Given the description of an element on the screen output the (x, y) to click on. 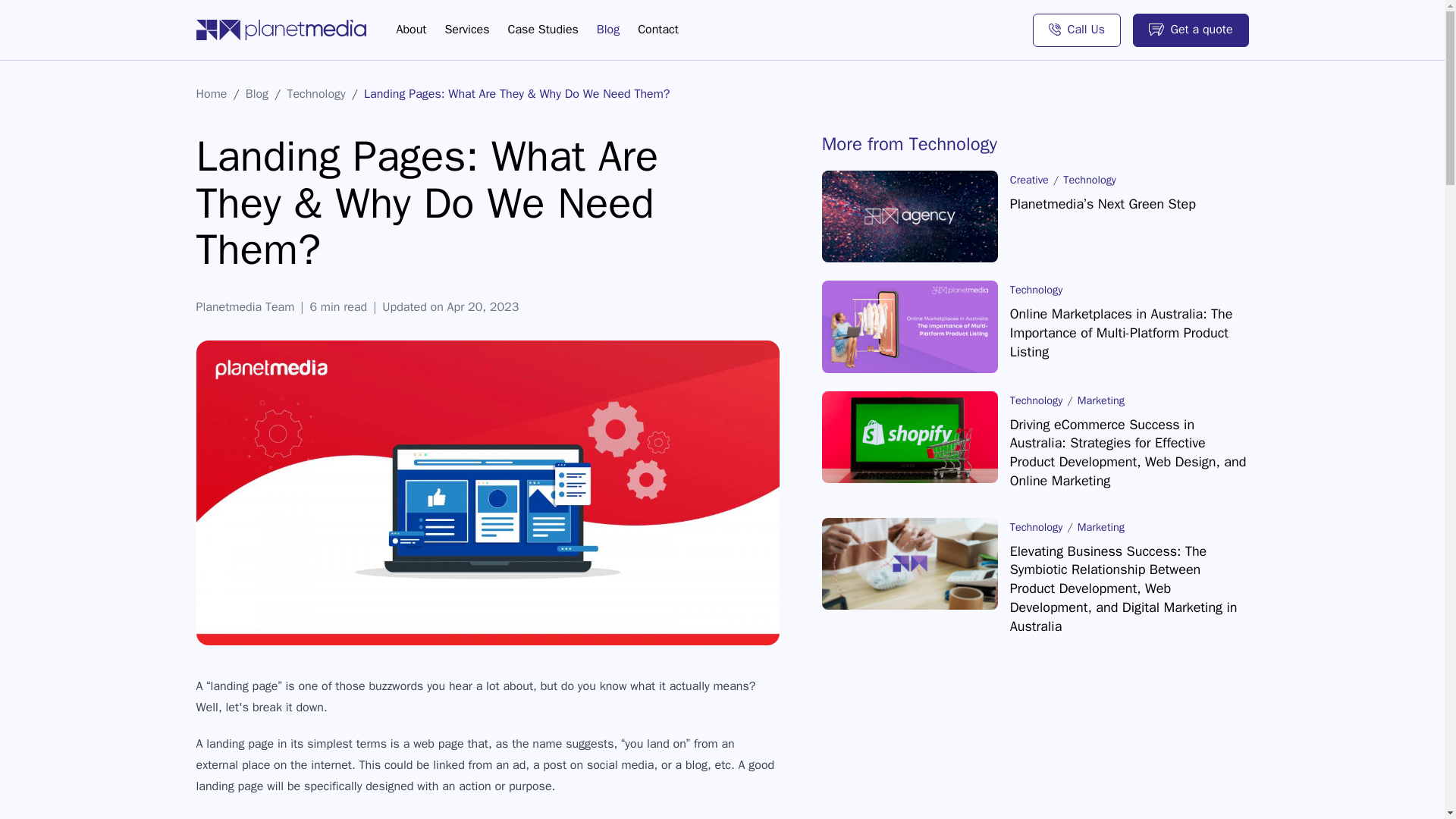
Services (466, 29)
Call Us (1076, 29)
Marketing (1100, 400)
Contact (657, 29)
Get a quote (1189, 29)
About (411, 29)
Go to the home page of the website (280, 29)
Technology (315, 94)
Technology (1036, 289)
Marketing (1100, 526)
